Given the description of an element on the screen output the (x, y) to click on. 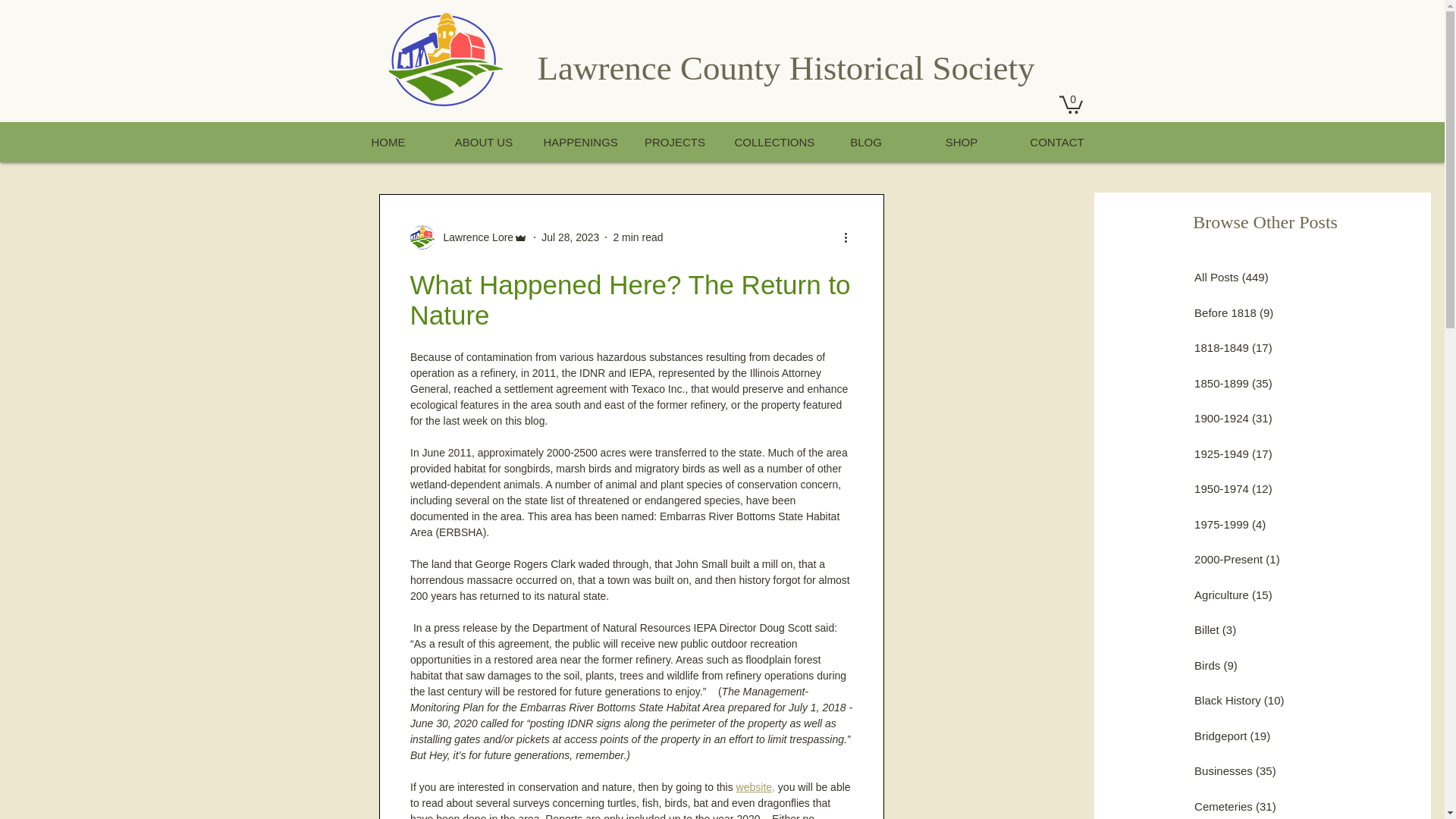
HOME (387, 142)
BLOG (864, 142)
PROJECTS (674, 142)
2 min read (637, 236)
Jul 28, 2023 (569, 236)
SHOP (960, 142)
HAPPENINGS (578, 142)
Lawrence County (663, 67)
0 (1069, 103)
ABOUT US (483, 142)
Historical Society (912, 67)
0 (1069, 103)
COLLECTIONS (769, 142)
Lawrence Lore (473, 237)
CONTACT (1056, 142)
